Given the description of an element on the screen output the (x, y) to click on. 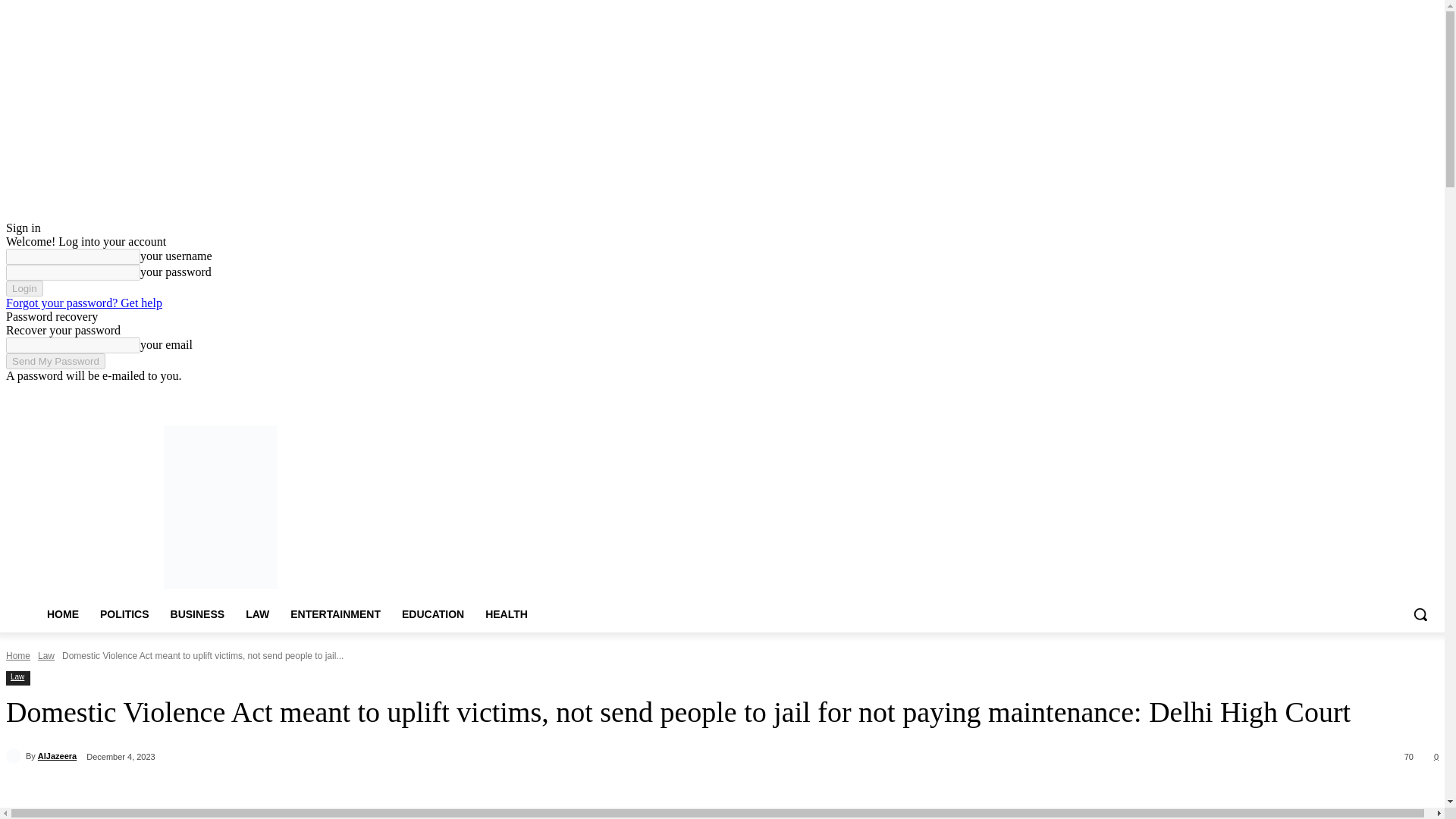
Home (220, 393)
Instagram (1366, 393)
EDUCATION (432, 614)
View all posts in Law (46, 655)
Education (438, 393)
Youtube (1429, 393)
Law (17, 676)
Law (46, 655)
Forgot your password? Get help (83, 302)
AlJazeera (15, 755)
